Given the description of an element on the screen output the (x, y) to click on. 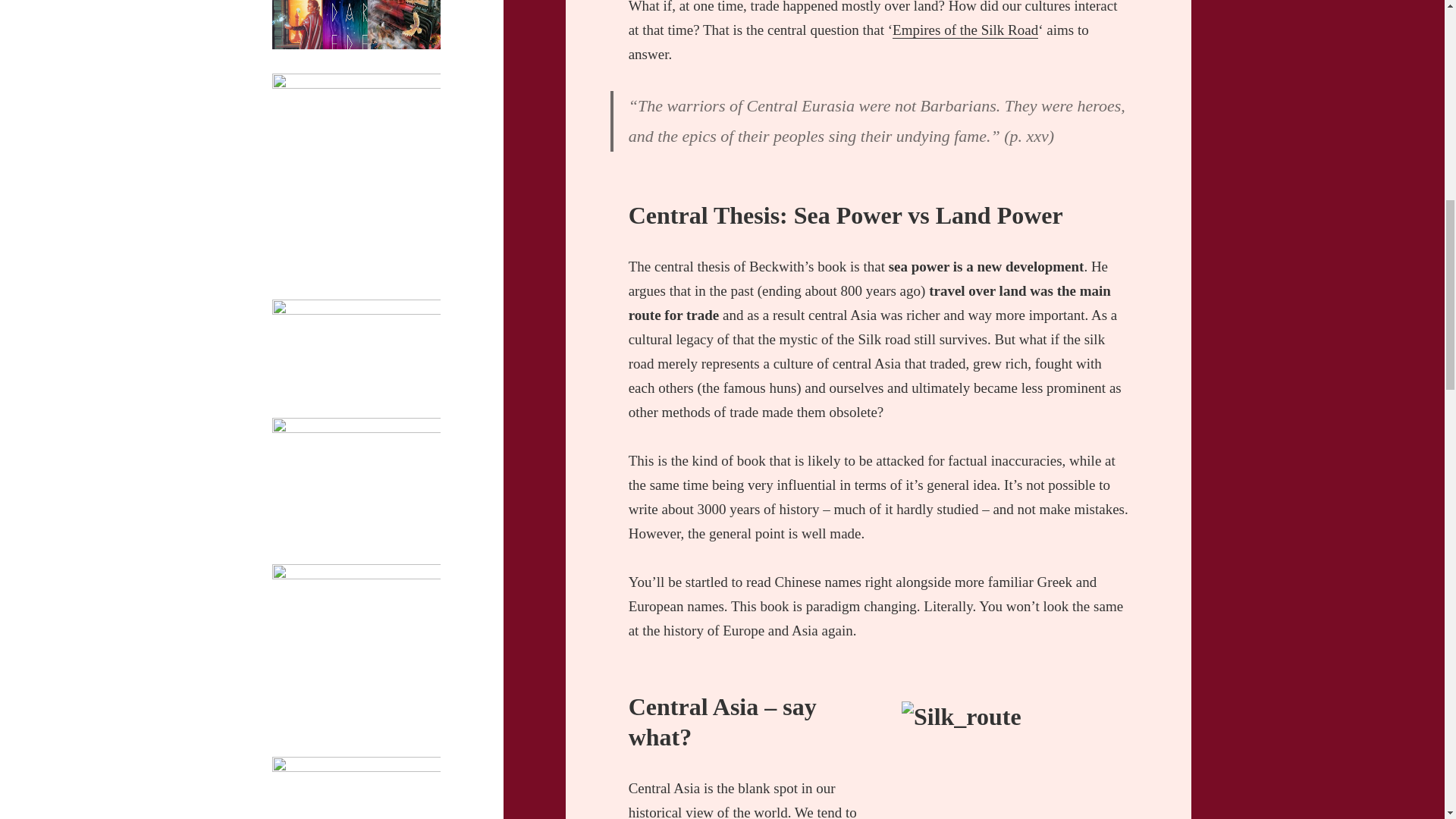
Best Fantasy Novels (322, 57)
Buddha Quote T-Shirts (328, 740)
Best Buddhism Coloring Books (349, 283)
Best Fantasy Books for Teens (344, 401)
How to choose a Tibetan Singing Bowl? (352, 539)
Empires of the Silk Road (965, 30)
